Given the description of an element on the screen output the (x, y) to click on. 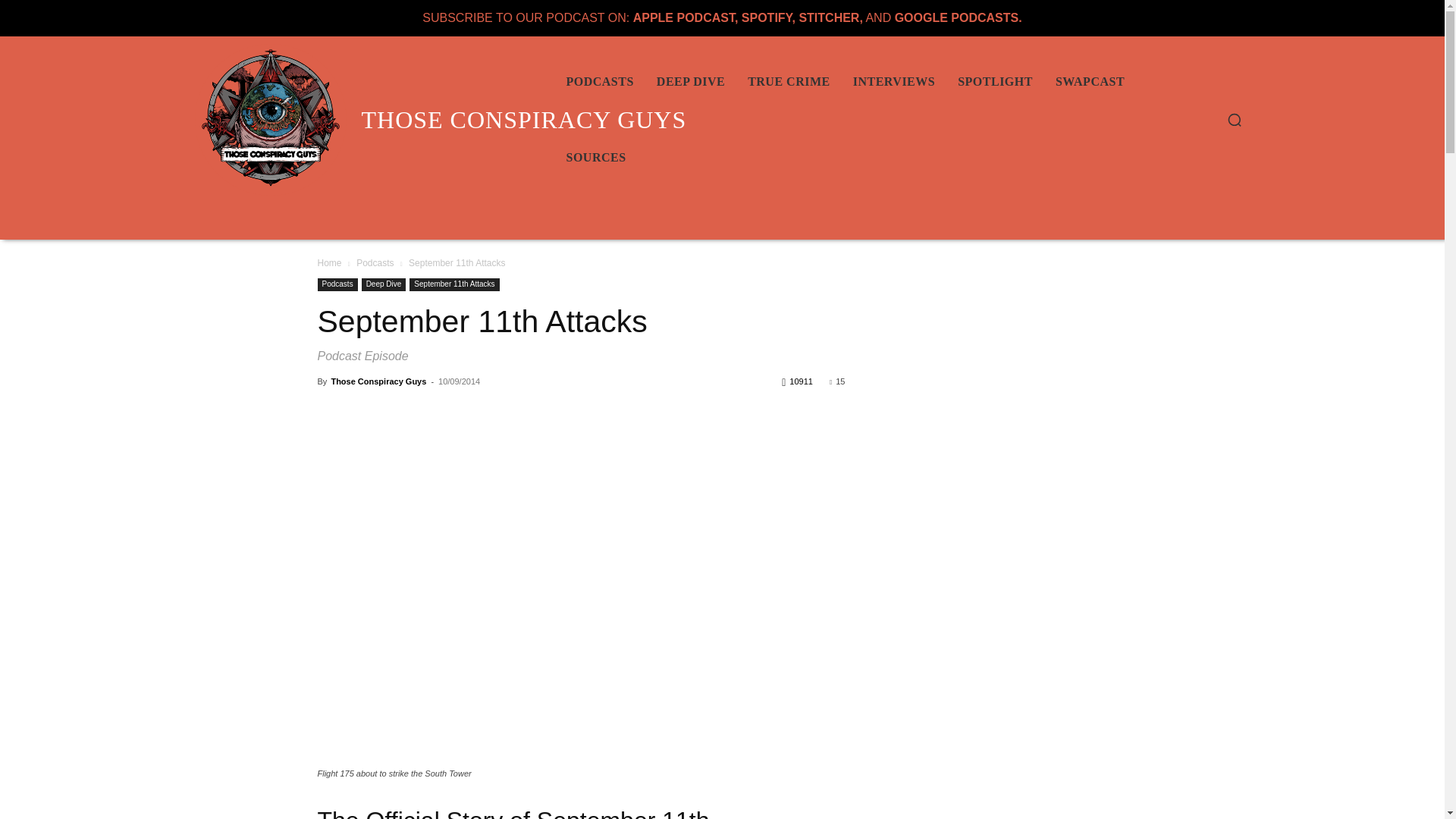
PODCASTS (598, 81)
Home (328, 262)
SPOTIFY (766, 17)
INTERVIEWS (893, 81)
15 (837, 380)
View all posts in Podcasts (374, 262)
SWAPCAST (1090, 81)
TRUE CRIME (788, 81)
September 11th Attacks (454, 284)
SPOTLIGHT (995, 81)
